Given the description of an element on the screen output the (x, y) to click on. 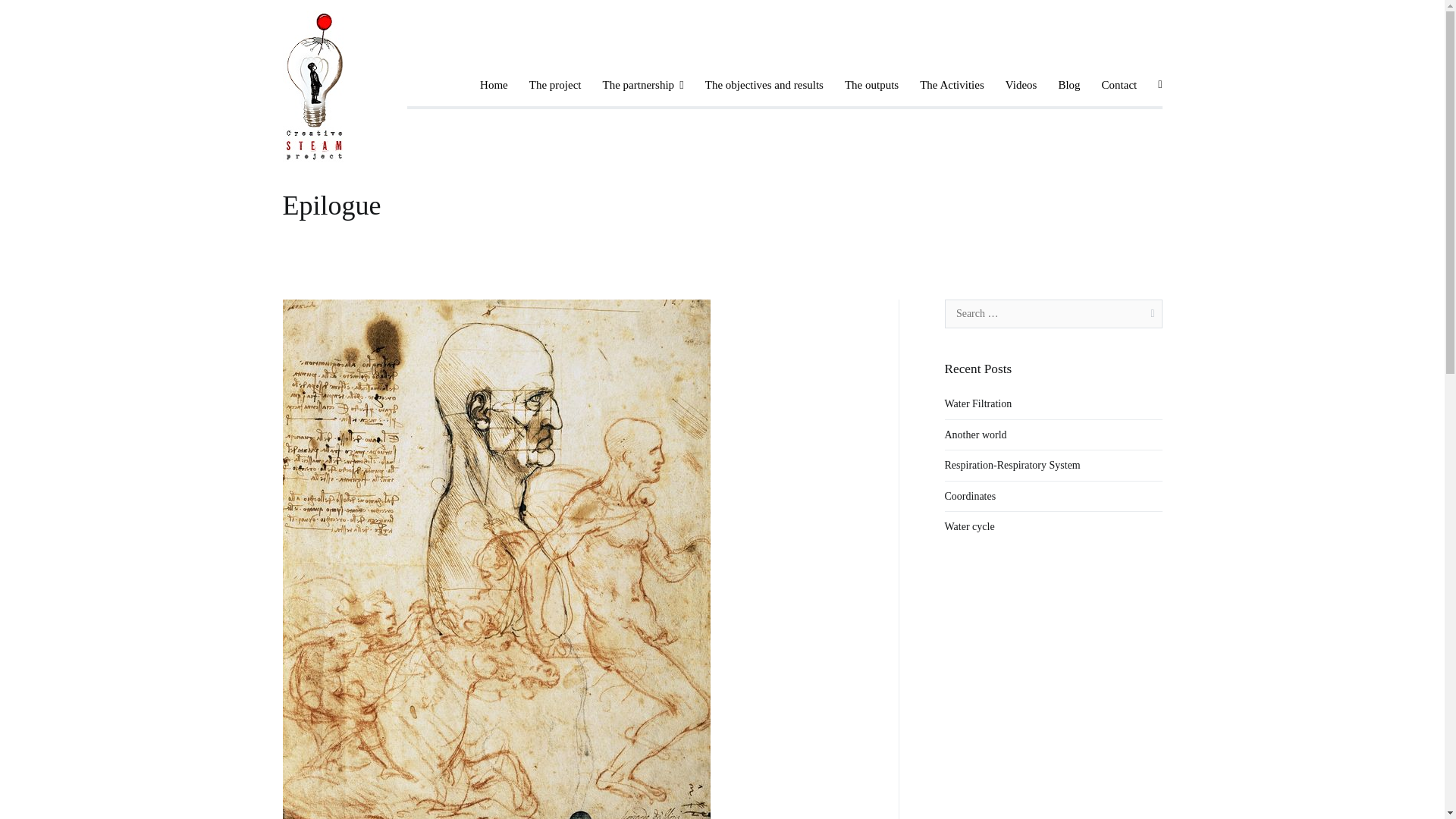
Search (25, 13)
Blog (1069, 84)
The project (554, 84)
Videos (1021, 84)
Contact (1119, 84)
The outputs (871, 84)
Home (494, 84)
The Activities (952, 84)
The partnership (642, 84)
